Given the description of an element on the screen output the (x, y) to click on. 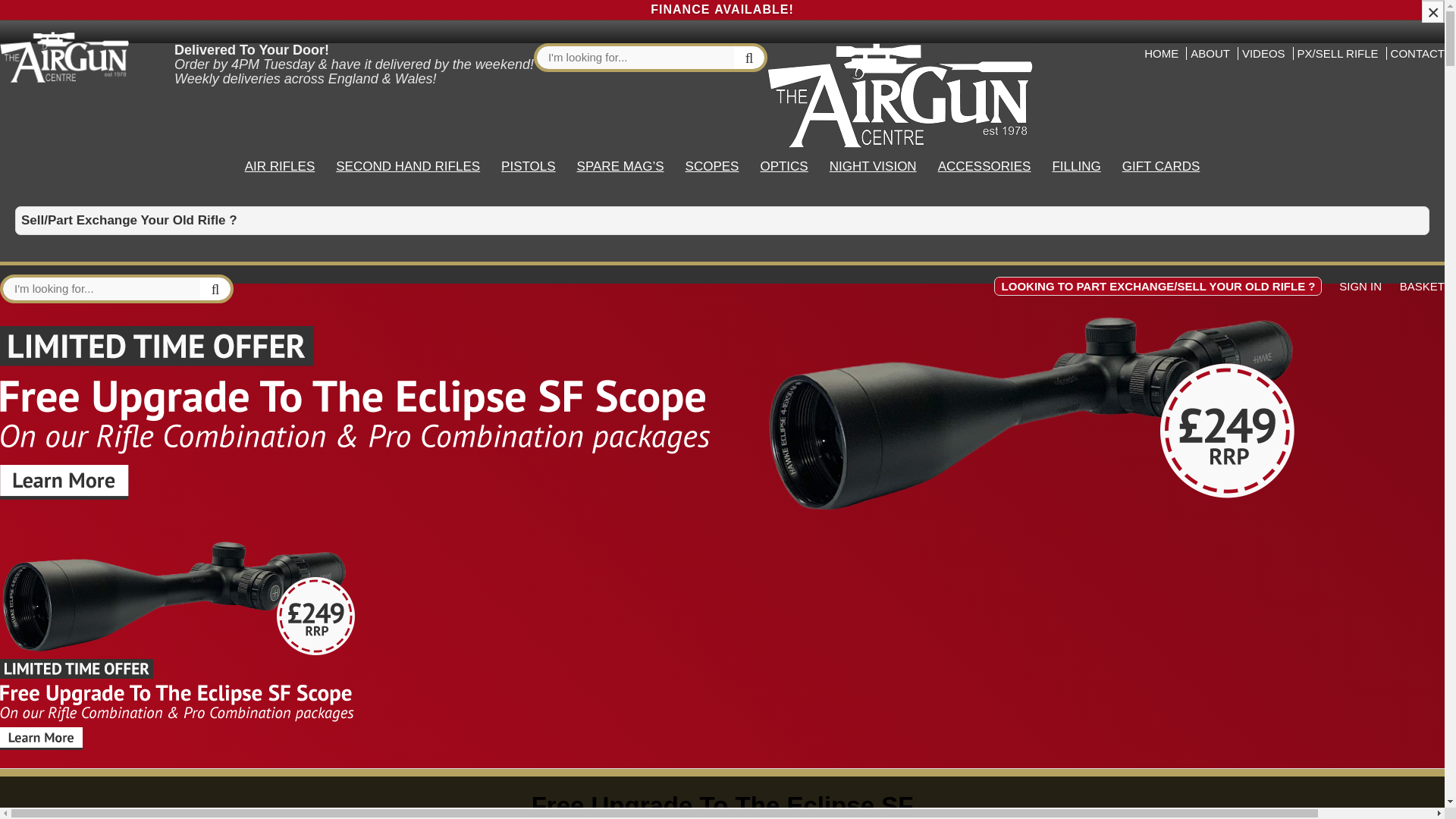
AIR RIFLES (280, 166)
I'm looking for... (635, 56)
HOME (1161, 52)
I'm looking for... (101, 288)
VIDEOS (1263, 52)
CONTACT (1415, 52)
ABOUT (1209, 52)
